Given the description of an element on the screen output the (x, y) to click on. 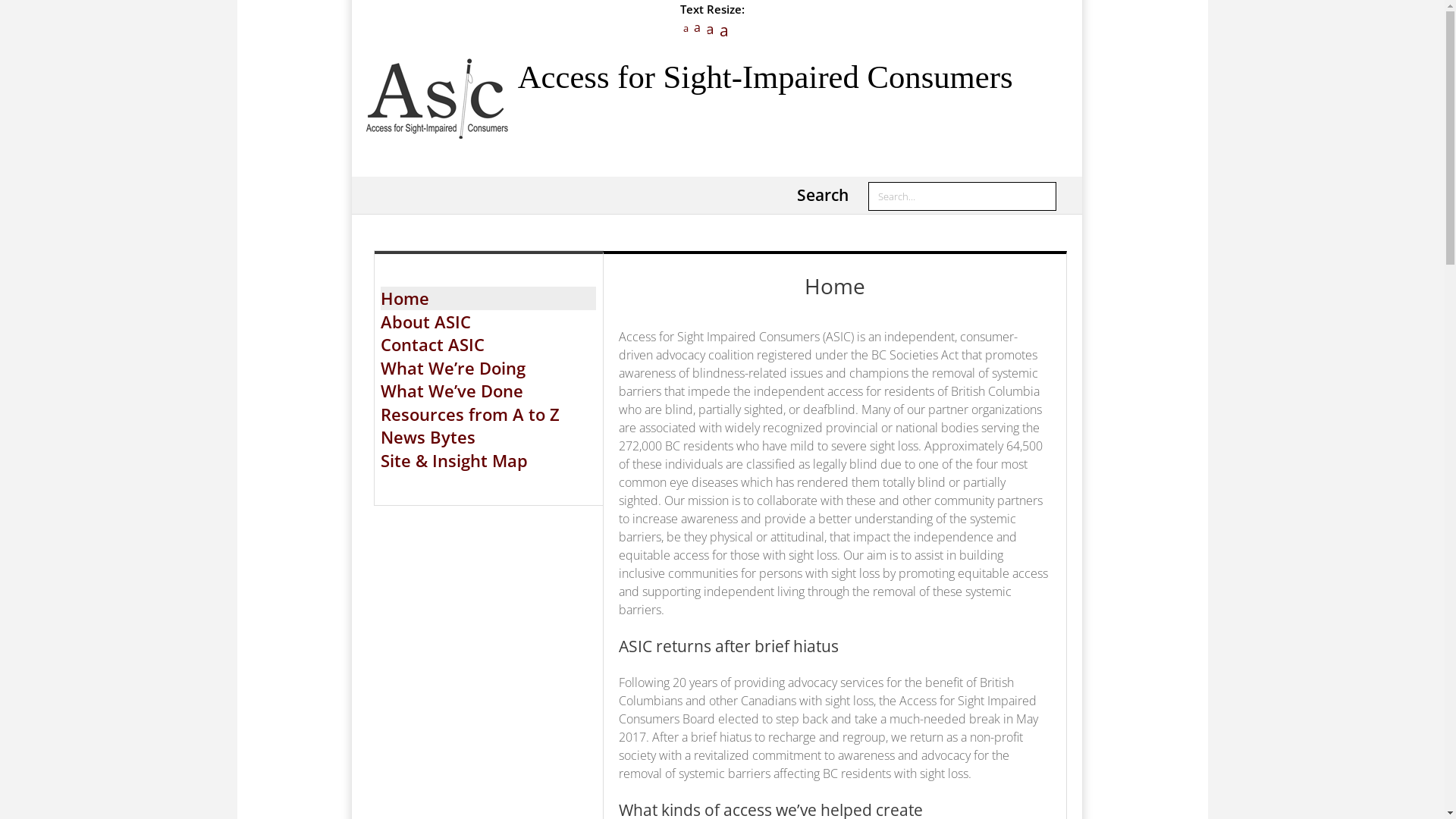
About ASIC Element type: text (425, 321)
Search for: Element type: hover (962, 196)
Sm
a
ll Text Element type: text (684, 27)
Home Element type: text (404, 297)
Site & Insight Map Element type: text (453, 459)
Regul
a
r Text Element type: text (695, 26)
L
a
rge Text Element type: text (708, 27)
Contact ASIC Element type: text (432, 343)
Resources from A to Z Element type: text (469, 413)
Extra L
a
rge Text Element type: text (722, 29)
News Bytes Element type: text (427, 436)
